Given the description of an element on the screen output the (x, y) to click on. 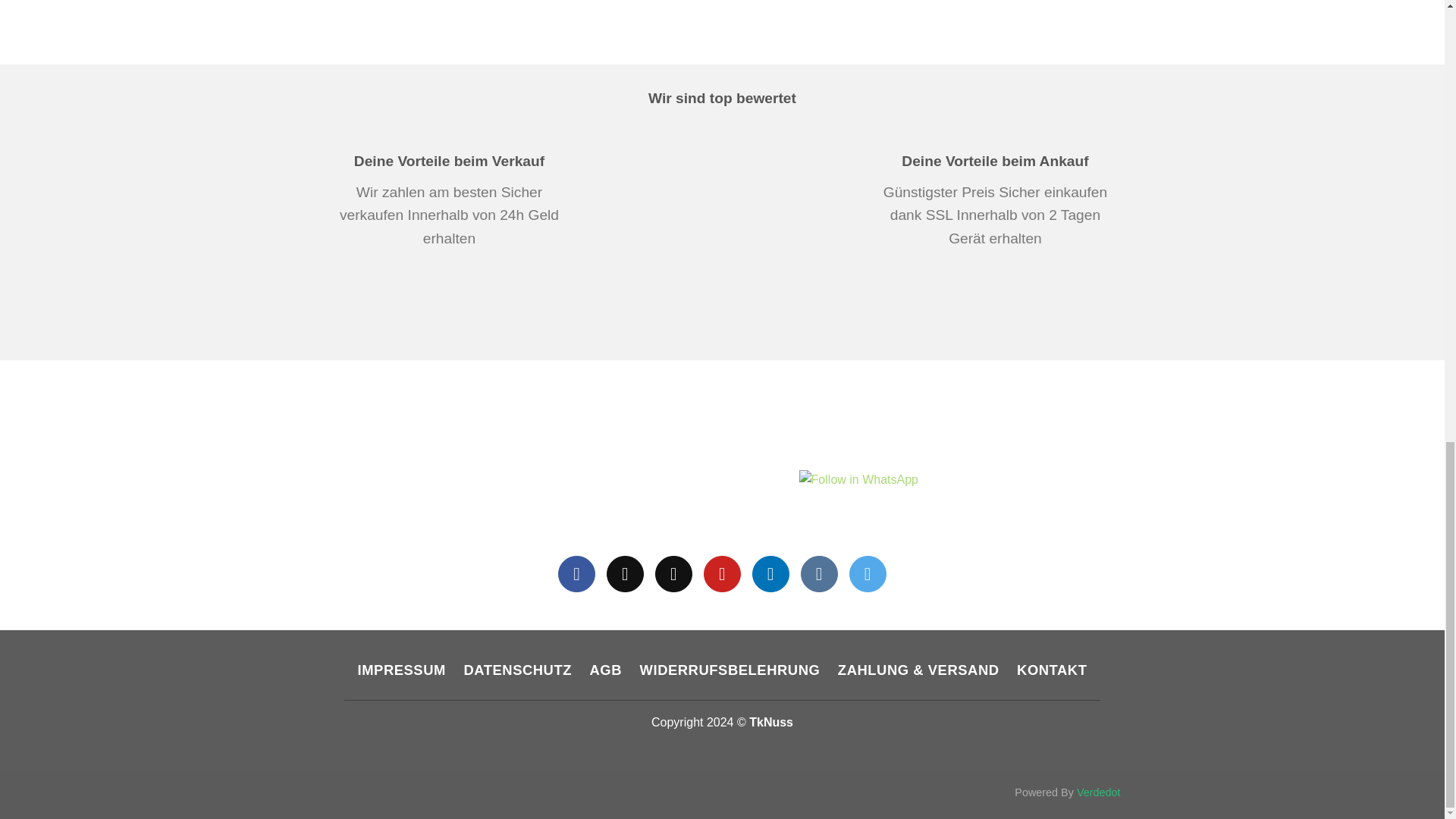
Auf Pinterest folgen (722, 574)
AGB (605, 669)
Sende uns eine E-Mail (674, 574)
KONTAKT (1051, 669)
DATENSCHUTZ (518, 669)
Follow in WhatsApp (858, 488)
WIDERRUFSBELEHRUNG (729, 669)
Verdedot (1099, 792)
Auf Facebook folgen (576, 574)
Follow in WhatsApp (858, 487)
Auf X folgen (625, 574)
IMPRESSUM (401, 669)
